Given the description of an element on the screen output the (x, y) to click on. 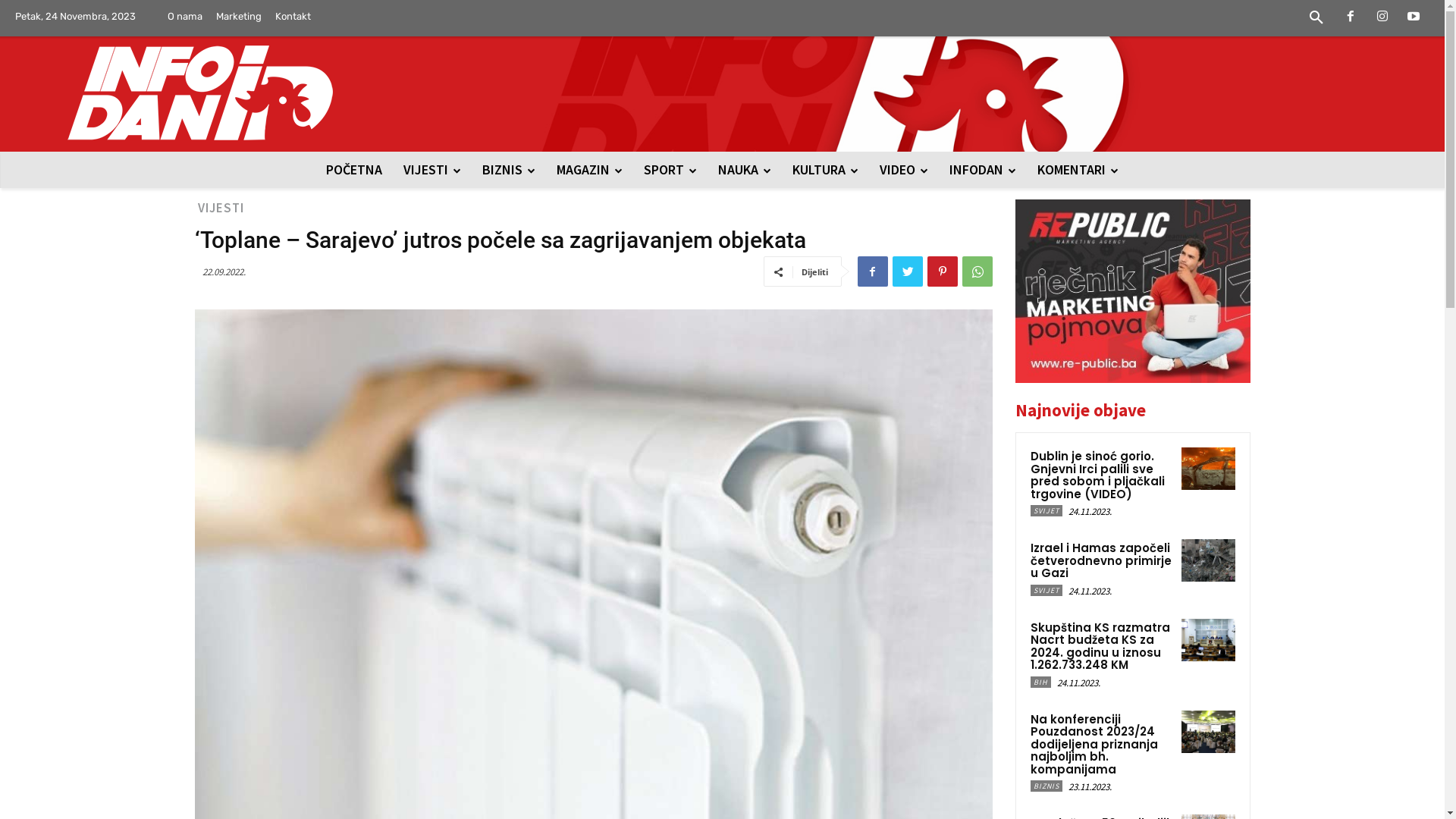
SVIJET Element type: text (1045, 590)
INFODAN Element type: text (982, 169)
Marketing Element type: text (238, 16)
Instagram Element type: hover (1382, 17)
VIJESTI Element type: text (220, 207)
NAUKA Element type: text (744, 169)
KULTURA Element type: text (825, 169)
BIH Element type: text (1039, 681)
WhatsApp Element type: hover (976, 271)
Facebook Element type: hover (871, 271)
MAGAZIN Element type: text (589, 169)
Pinterest Element type: hover (941, 271)
Twitter Element type: hover (906, 271)
BIZNIS Element type: text (508, 169)
Youtube Element type: hover (1413, 17)
SPORT Element type: text (670, 169)
O nama Element type: text (184, 16)
VIDEO Element type: text (903, 169)
VIJESTI Element type: text (431, 169)
Facebook Element type: hover (1350, 17)
SVIJET Element type: text (1045, 510)
BIZNIS Element type: text (1045, 785)
KOMENTARI Element type: text (1077, 169)
Kontakt Element type: text (292, 16)
